Given the description of an element on the screen output the (x, y) to click on. 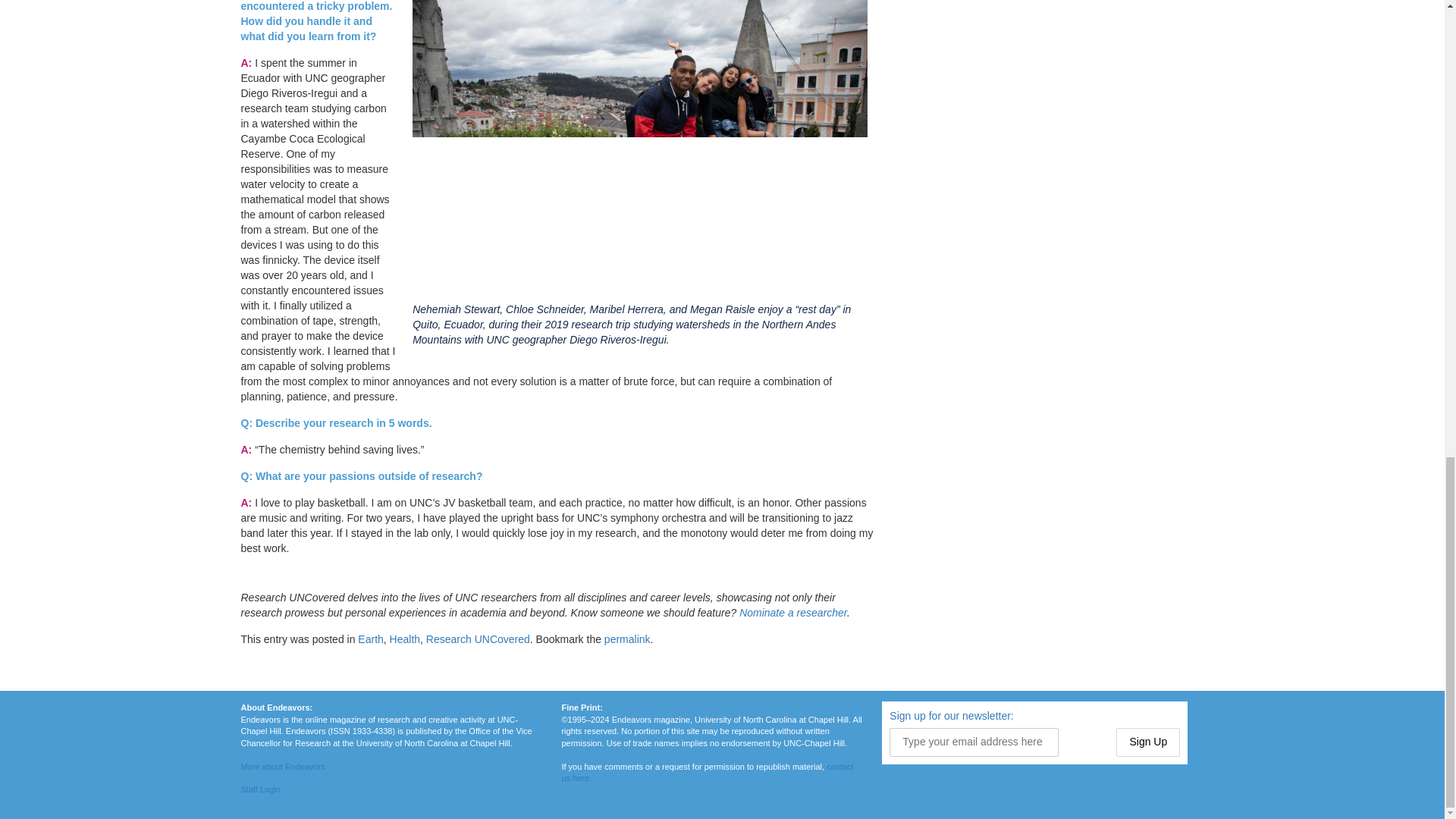
Permalink to Nehemiah Stewart (627, 639)
Sign Up (1147, 742)
Health (405, 639)
More about Endeavors (282, 766)
Nominate a researcher (793, 612)
Earth (370, 639)
permalink (627, 639)
Research UNCovered (477, 639)
